Given the description of an element on the screen output the (x, y) to click on. 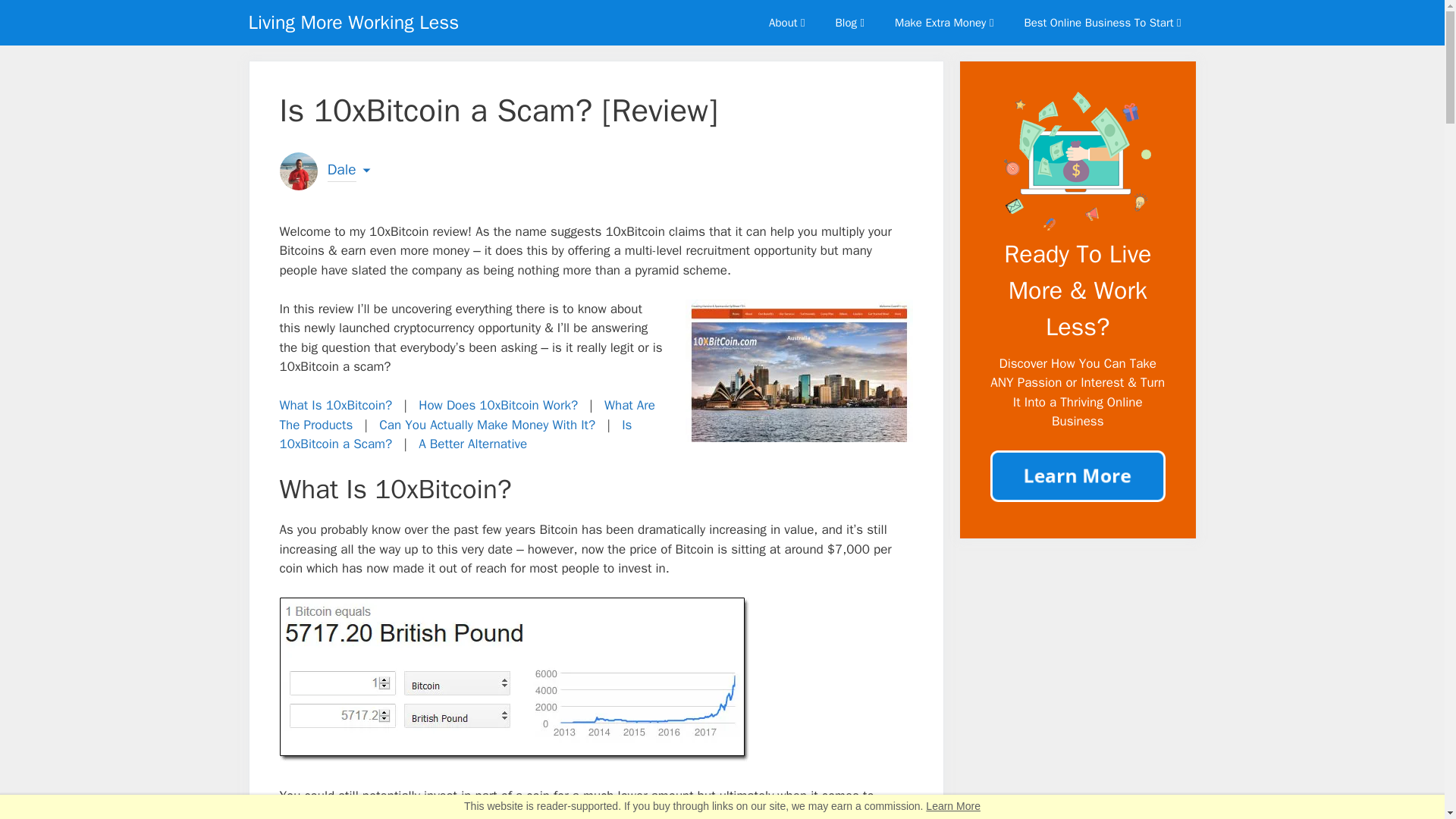
What Is 10xBitcoin? (335, 405)
Living More Working Less (354, 22)
How Does 10xBitcoin Work? (498, 405)
Is 10xBitcoin a Scam? (455, 434)
What Are The Products (466, 415)
Can You Actually Make Money With It? (486, 424)
A Better Alternative (473, 443)
